Given the description of an element on the screen output the (x, y) to click on. 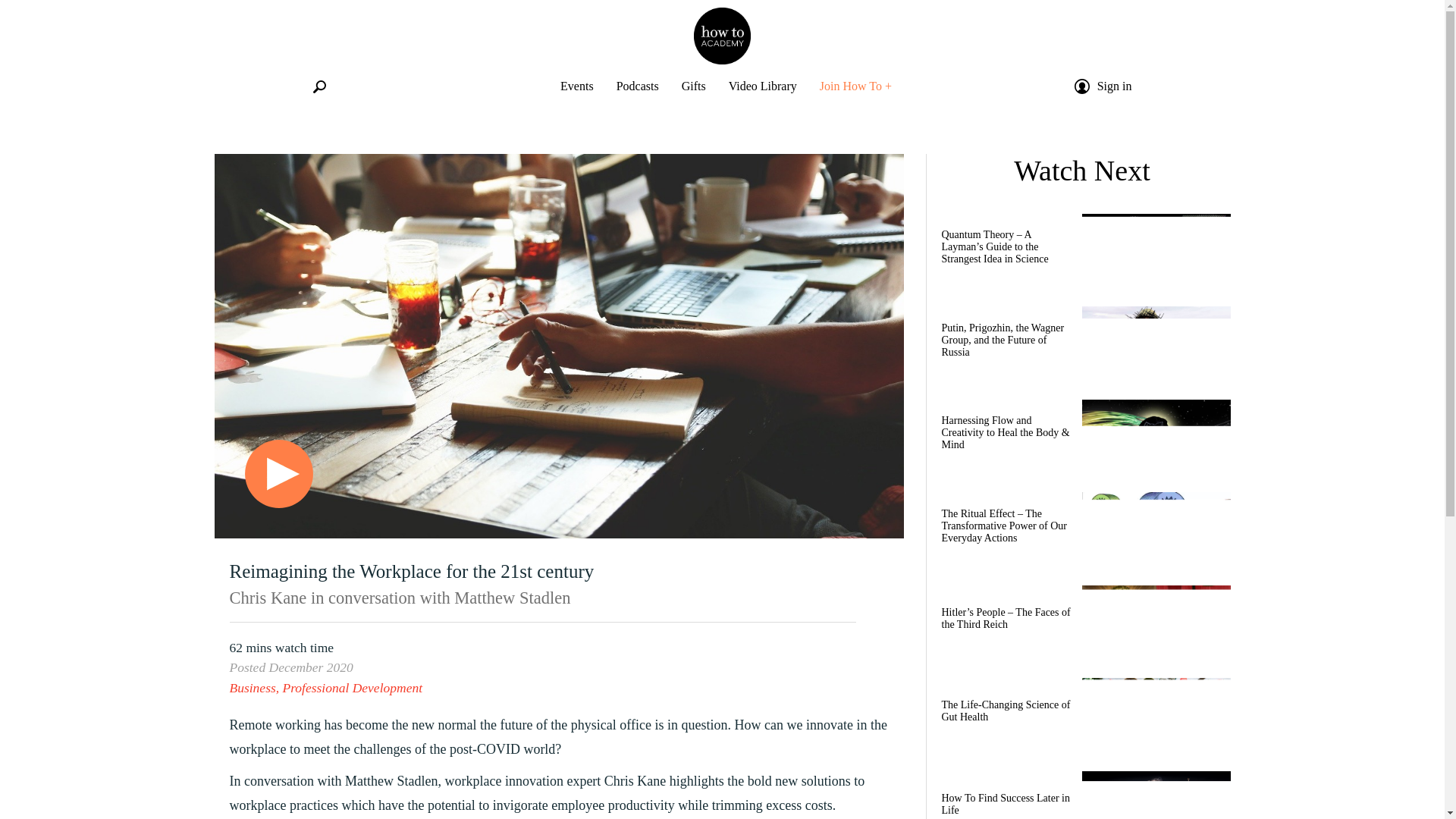
Podcasts (637, 85)
Video Library (762, 85)
How To Find Success Later in Life (1082, 795)
Sign in (1114, 85)
The Life-Changing Science of Gut Health (1082, 716)
Events (577, 85)
Putin, Prigozhin, the Wagner Group, and the Future of Russia (1082, 345)
Gifts (693, 85)
